Given the description of an element on the screen output the (x, y) to click on. 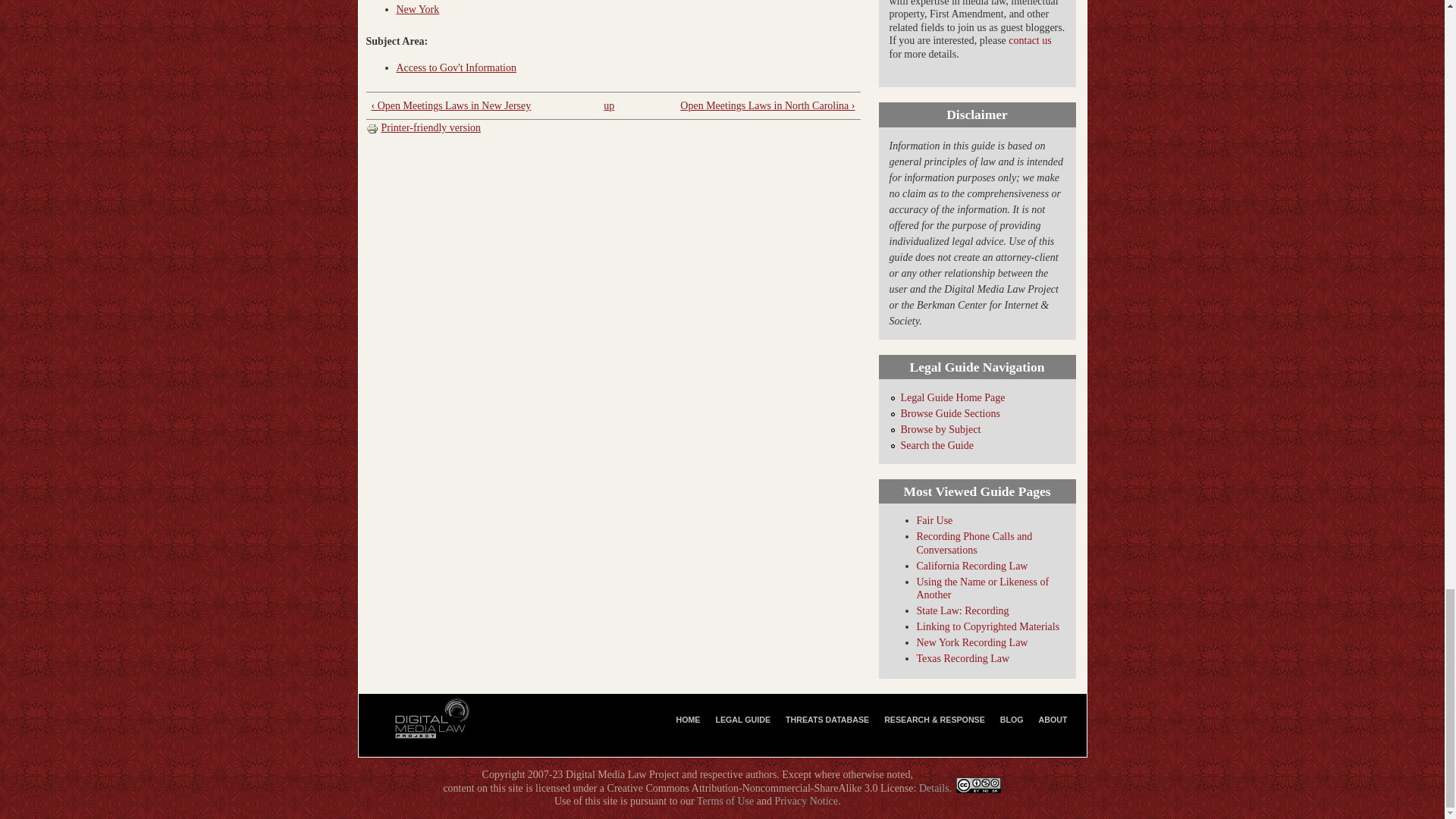
Printer-friendly version (422, 127)
up (609, 105)
Access to Gov't Information (455, 67)
New York (417, 9)
